Given the description of an element on the screen output the (x, y) to click on. 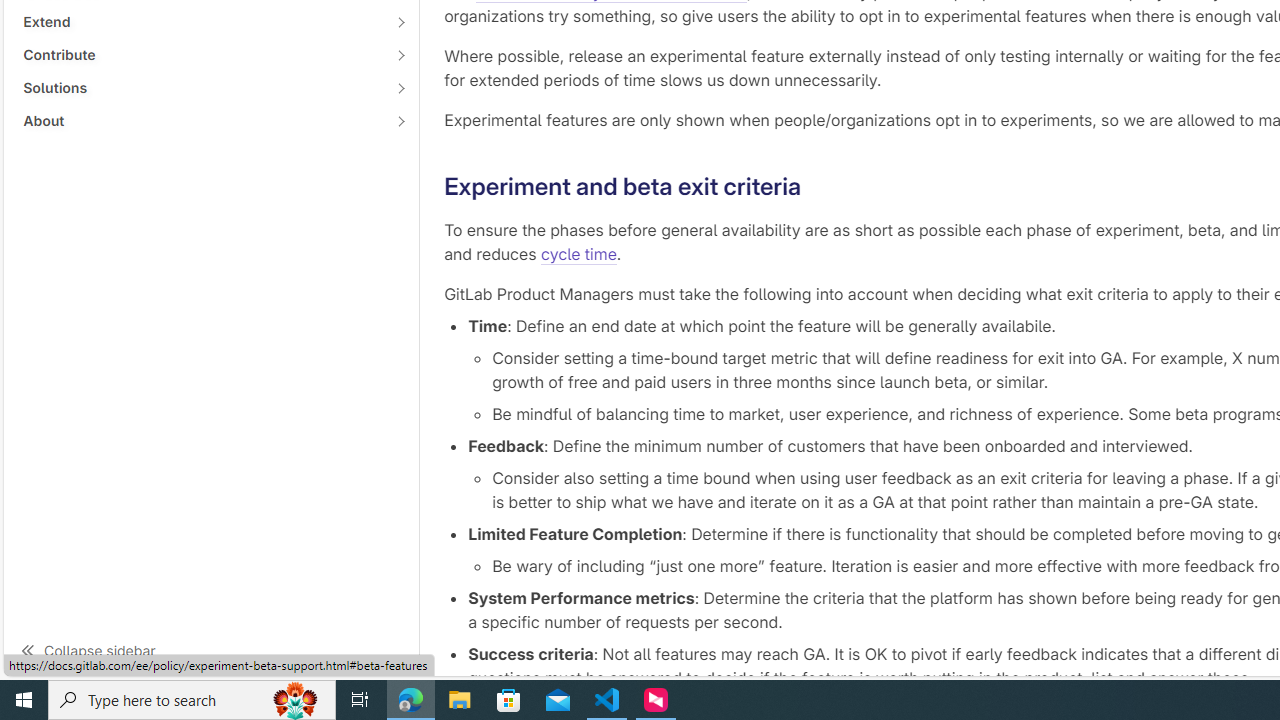
cycle time (578, 254)
Collapse sidebar (211, 650)
Contribute (199, 54)
Permalink (817, 186)
Extend (199, 21)
